Given the description of an element on the screen output the (x, y) to click on. 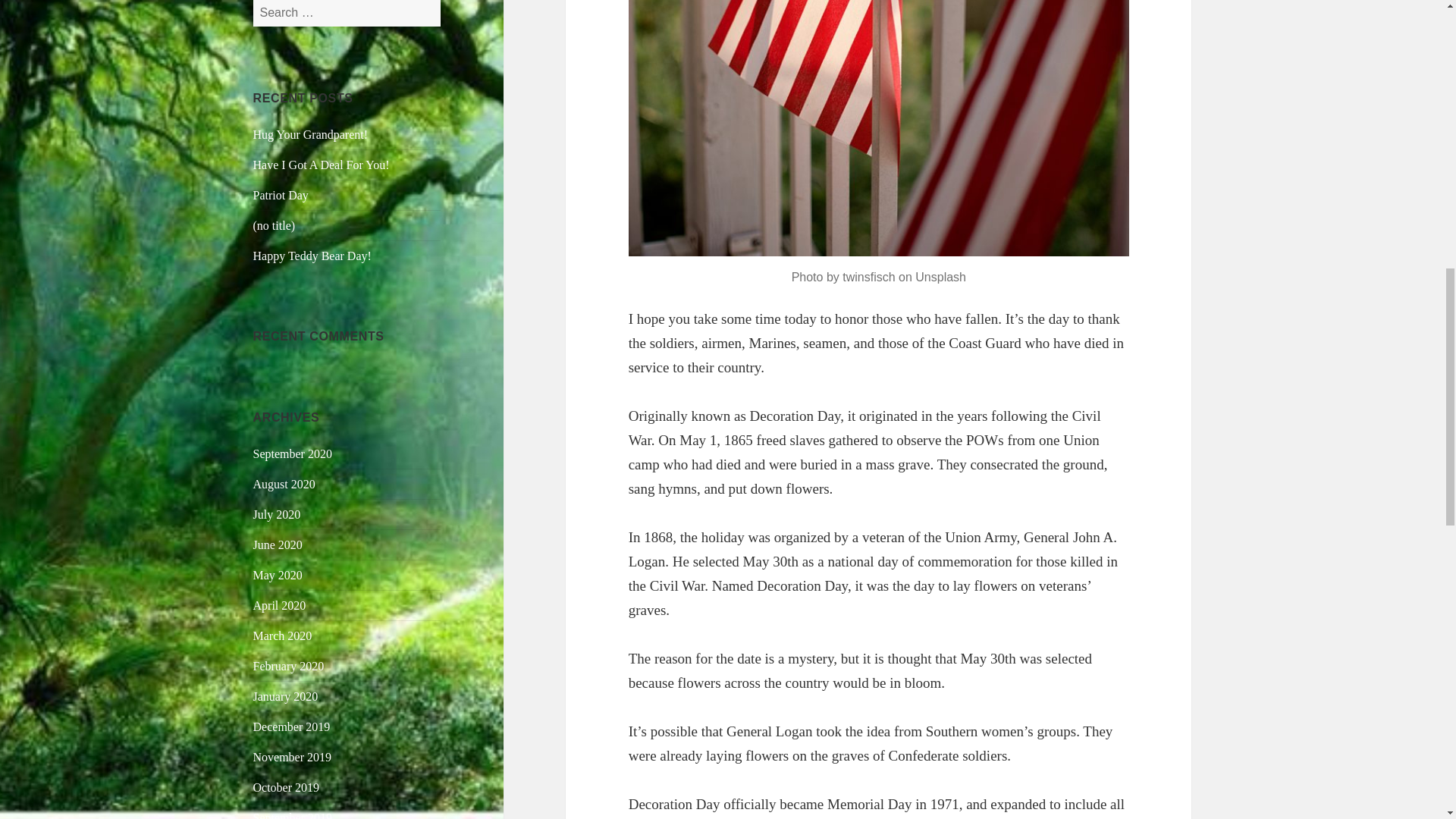
Happy Teddy Bear Day! (312, 255)
June 2020 (277, 544)
April 2020 (279, 604)
May 2020 (277, 574)
March 2020 (283, 635)
Have I Got A Deal For You! (321, 164)
August 2020 (284, 483)
Hug Your Grandparent! (310, 133)
Patriot Day (280, 195)
July 2020 (277, 513)
